Given the description of an element on the screen output the (x, y) to click on. 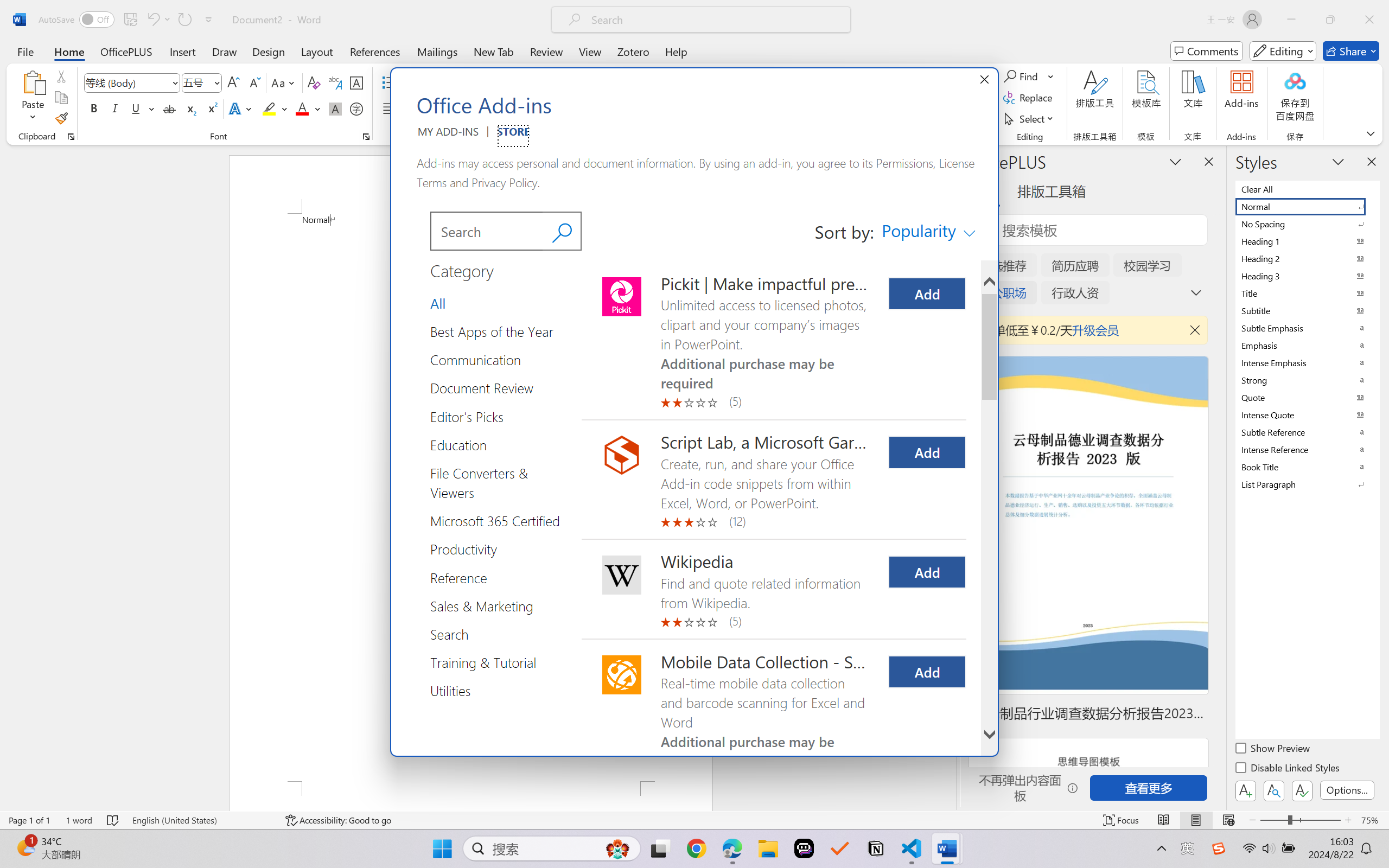
Font (126, 82)
Category Group Education 6 of 14 (462, 444)
Underline (135, 108)
OfficePLUS (126, 51)
Home (69, 51)
Subtle Reference (1306, 431)
Text Highlight Color (274, 108)
Category Group Productivity 9 of 14 (467, 548)
Category Group Best Apps of the Year 2 of 14 (495, 330)
